Given the description of an element on the screen output the (x, y) to click on. 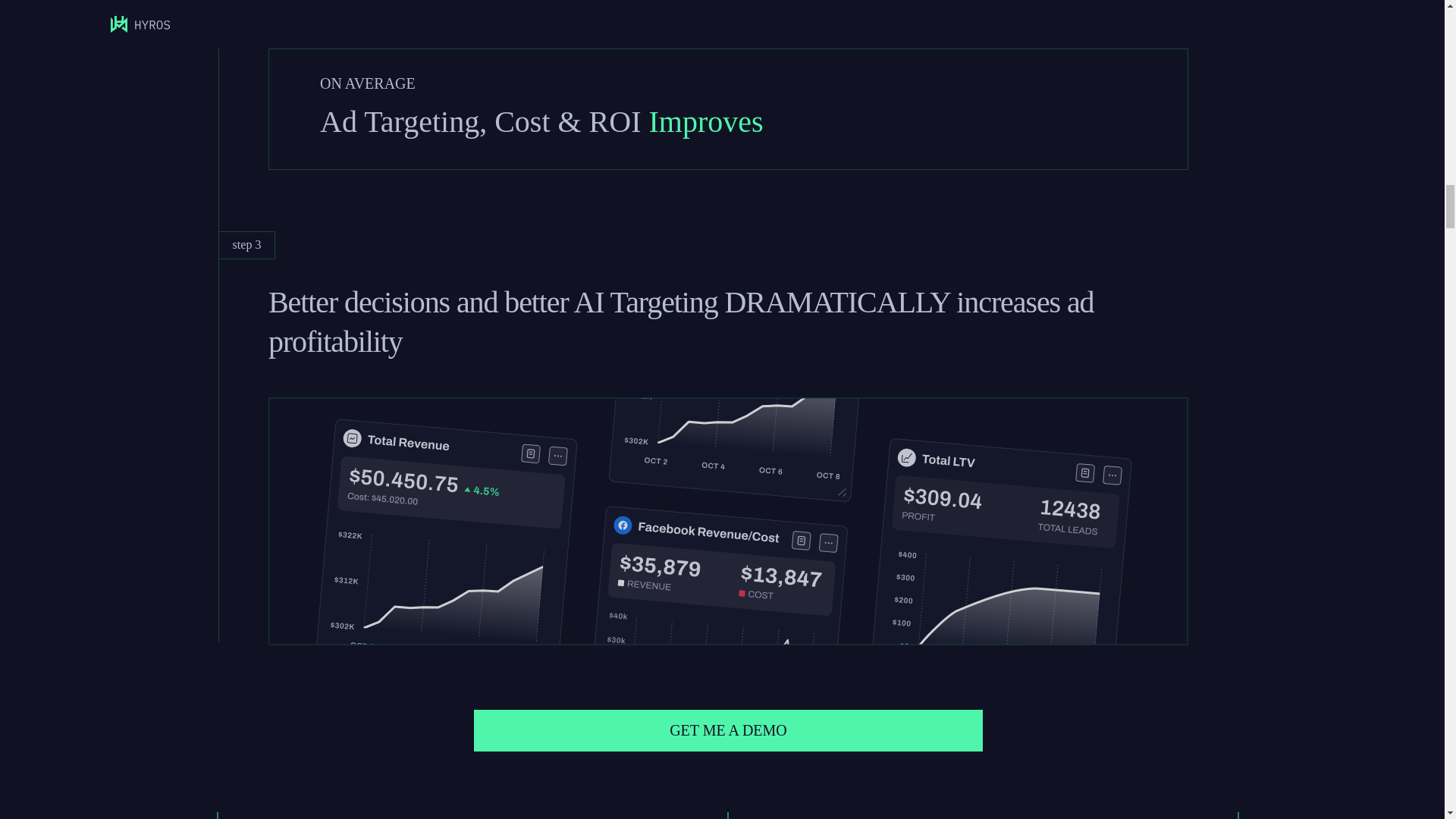
GET ME A DEMO (729, 730)
